Given the description of an element on the screen output the (x, y) to click on. 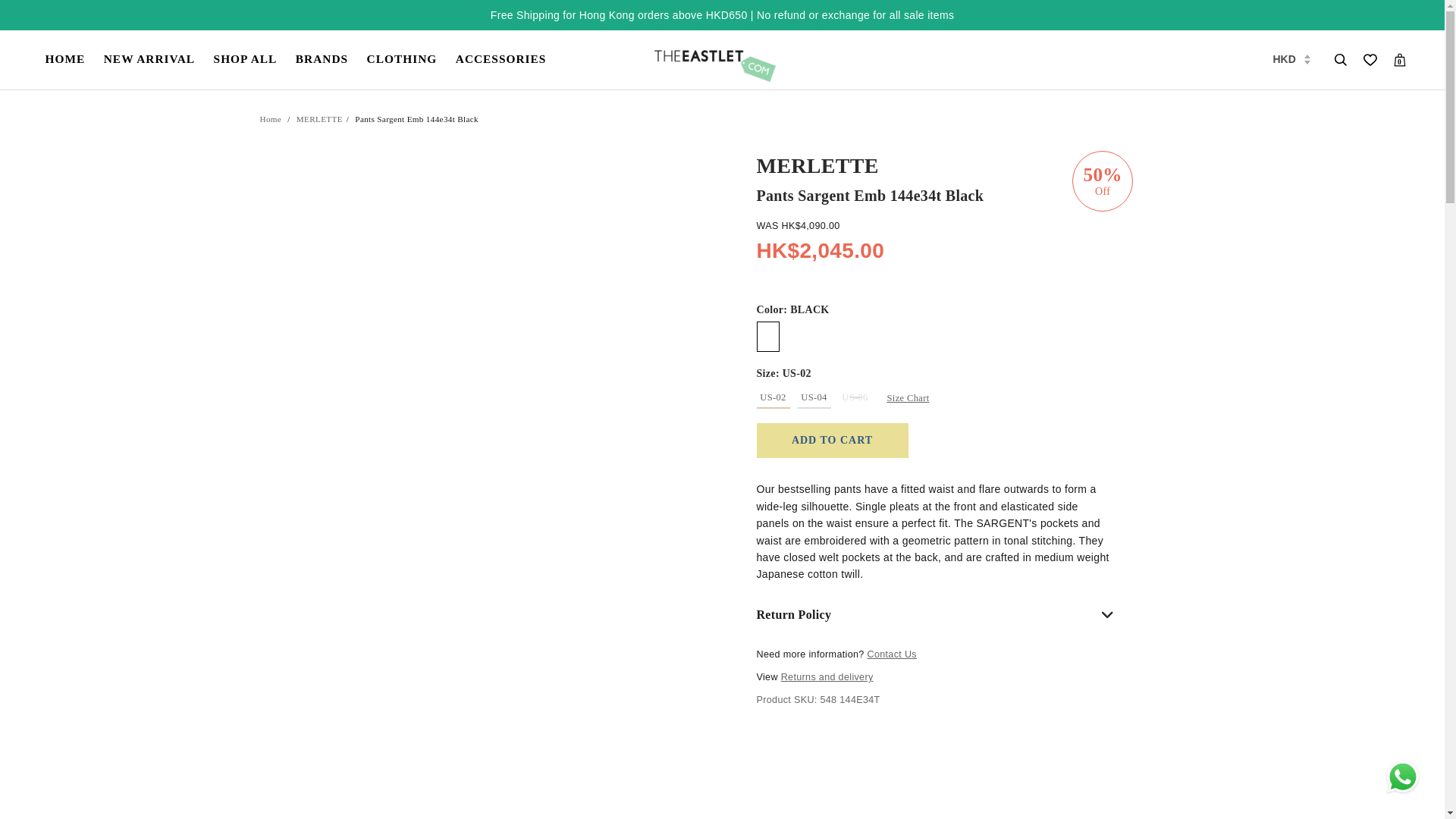
US-06 (855, 396)
US-04 (814, 396)
BRANDS (321, 59)
NEW ARRIVAL (149, 59)
Back to the frontpage (270, 119)
US-02 (773, 396)
SHOP ALL (246, 59)
